Given the description of an element on the screen output the (x, y) to click on. 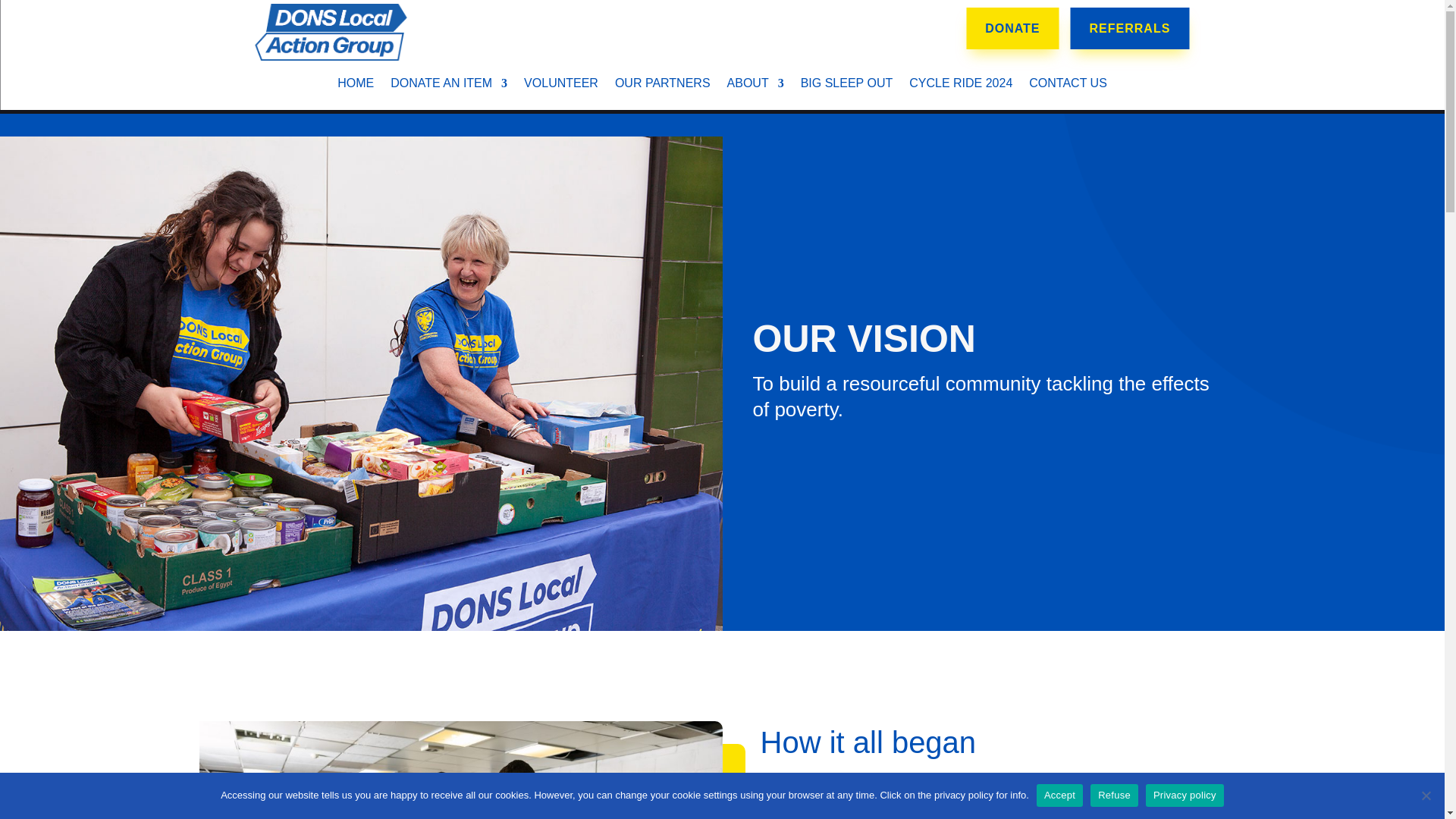
Refuse (1425, 795)
VOLUNTEER (561, 86)
CONTACT US (1067, 86)
ABOUT (755, 86)
CYCLE RIDE 2024 (959, 86)
REFERRALS (1129, 28)
OUR PARTNERS (662, 86)
DONATE AN ITEM (448, 86)
HOME (355, 86)
Volunteers Arya and Amit packing fruit at the hub (460, 770)
